Given the description of an element on the screen output the (x, y) to click on. 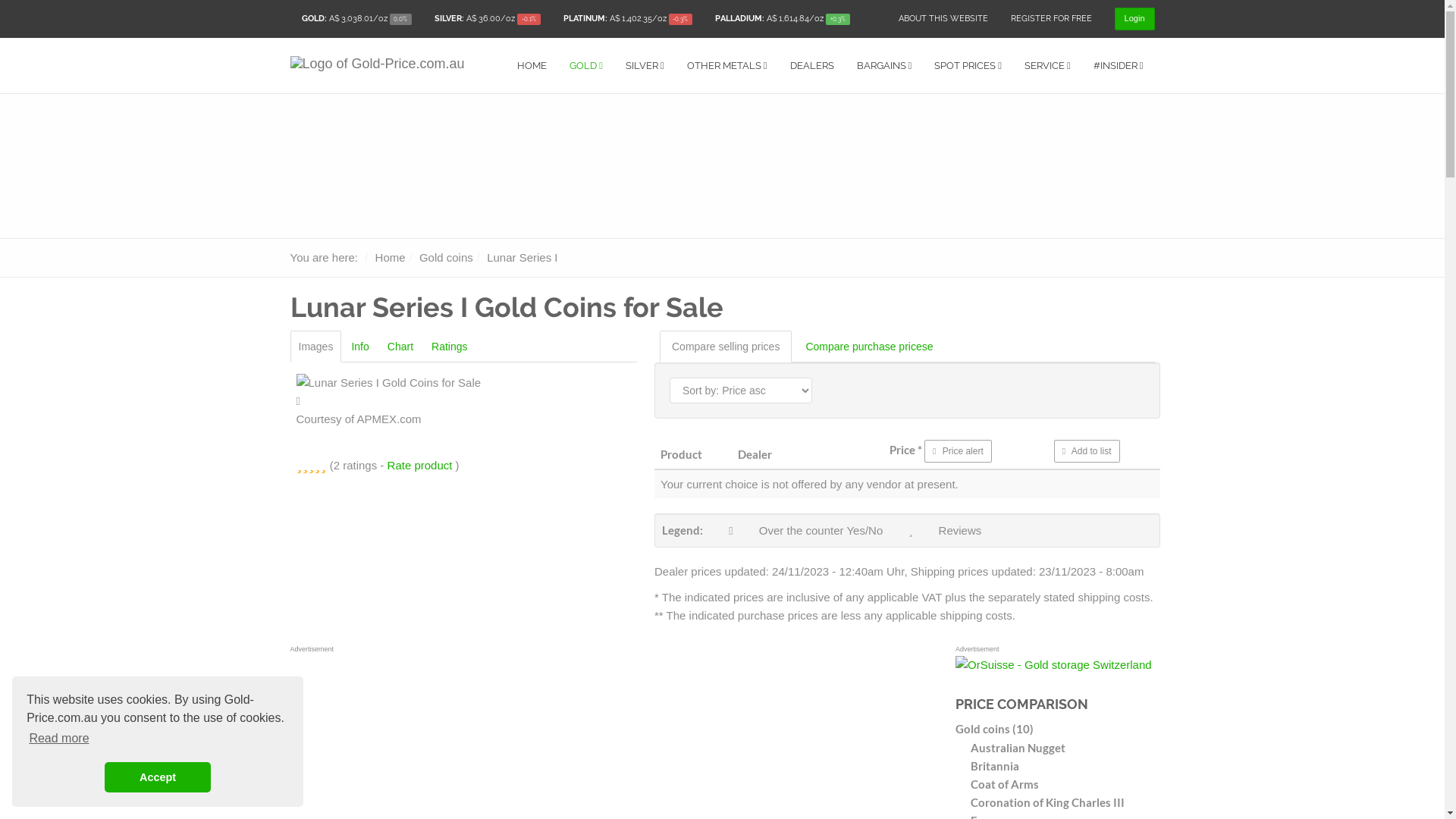
BARGAINS Element type: text (883, 65)
Advertisement Element type: hover (869, 124)
Add to list Element type: text (1087, 450)
SERVICE Element type: text (1047, 65)
Coronation of King Charles III Element type: text (1062, 802)
SILVER Element type: text (644, 65)
HOME Element type: text (531, 65)
Rate product Element type: text (419, 464)
Images Element type: text (315, 346)
DEALERS Element type: text (811, 65)
GOLD Element type: text (586, 65)
Accept Element type: text (157, 777)
#INSIDER Element type: text (1118, 65)
Coat of Arms Element type: text (1062, 784)
REGISTER FOR FREE Element type: text (1051, 18)
Australian Nugget Element type: text (1062, 747)
COMPARE PRICES Element type: text (502, 51)
Read more Element type: text (58, 738)
OrSuisse - Gold storage Switzerland Element type: hover (1053, 664)
Chart Element type: text (400, 346)
Home Element type: text (390, 257)
Compare selling prices Element type: text (725, 346)
Price alert Element type: text (957, 450)
Britannia Element type: text (1062, 765)
Login Element type: text (1134, 18)
Lunar Series I Element type: text (521, 257)
ABOUT THIS WEBSITE Element type: text (943, 18)
Gold coins Element type: text (446, 257)
Ratings Element type: text (449, 346)
Compare purchase pricese Element type: text (868, 346)
OTHER METALS Element type: text (726, 65)
SPOT PRICES Element type: text (967, 65)
Info Element type: text (359, 346)
